Given the description of an element on the screen output the (x, y) to click on. 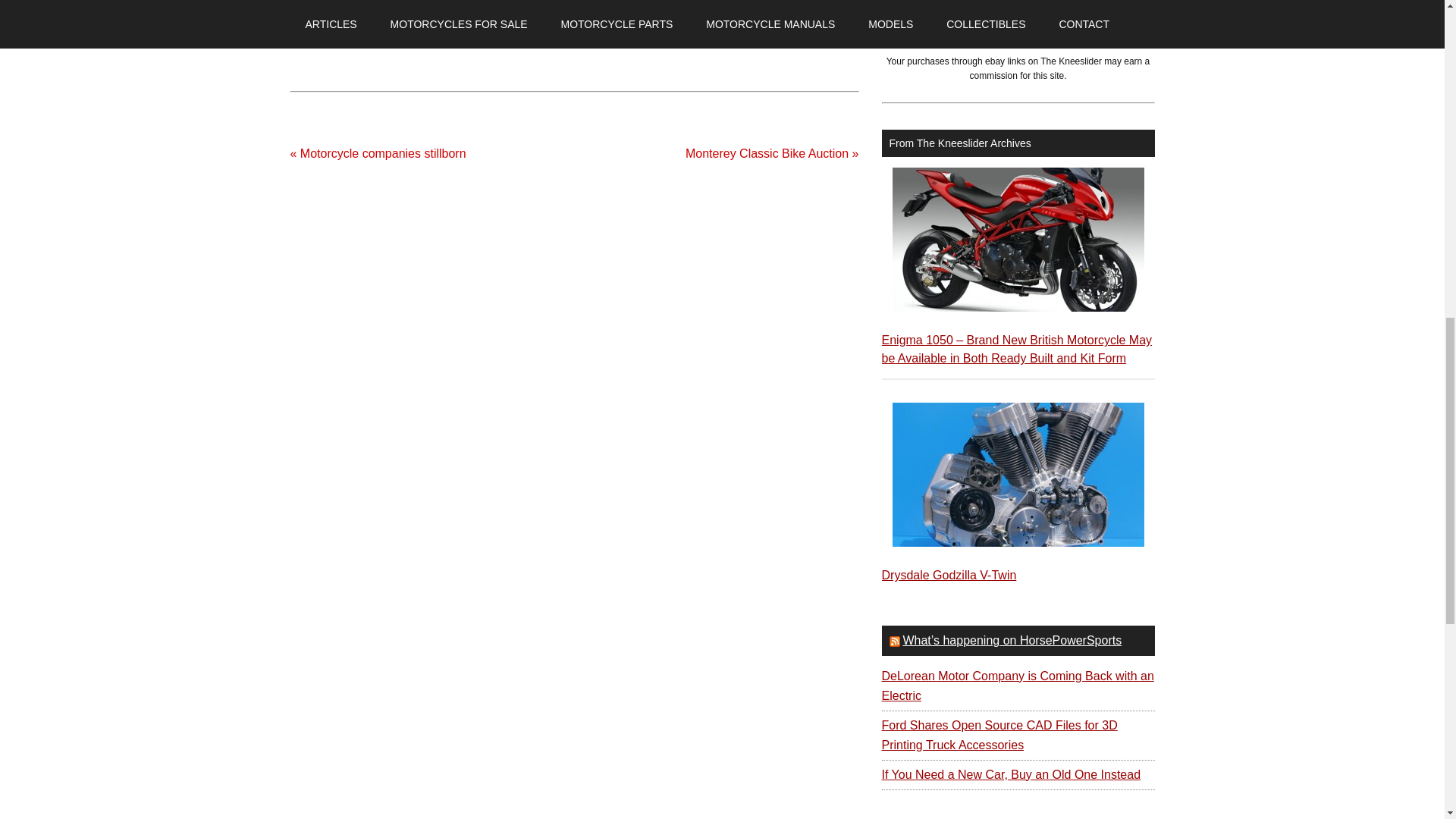
Drysdale Godzilla V-Twin (948, 574)
motorcycle manuals and literature (995, 2)
motorcycle collectibles (656, 4)
If You Need a New Car, Buy an Old One Instead (1010, 774)
DeLorean Motor Company is Coming Back with an Electric (1016, 685)
